Given the description of an element on the screen output the (x, y) to click on. 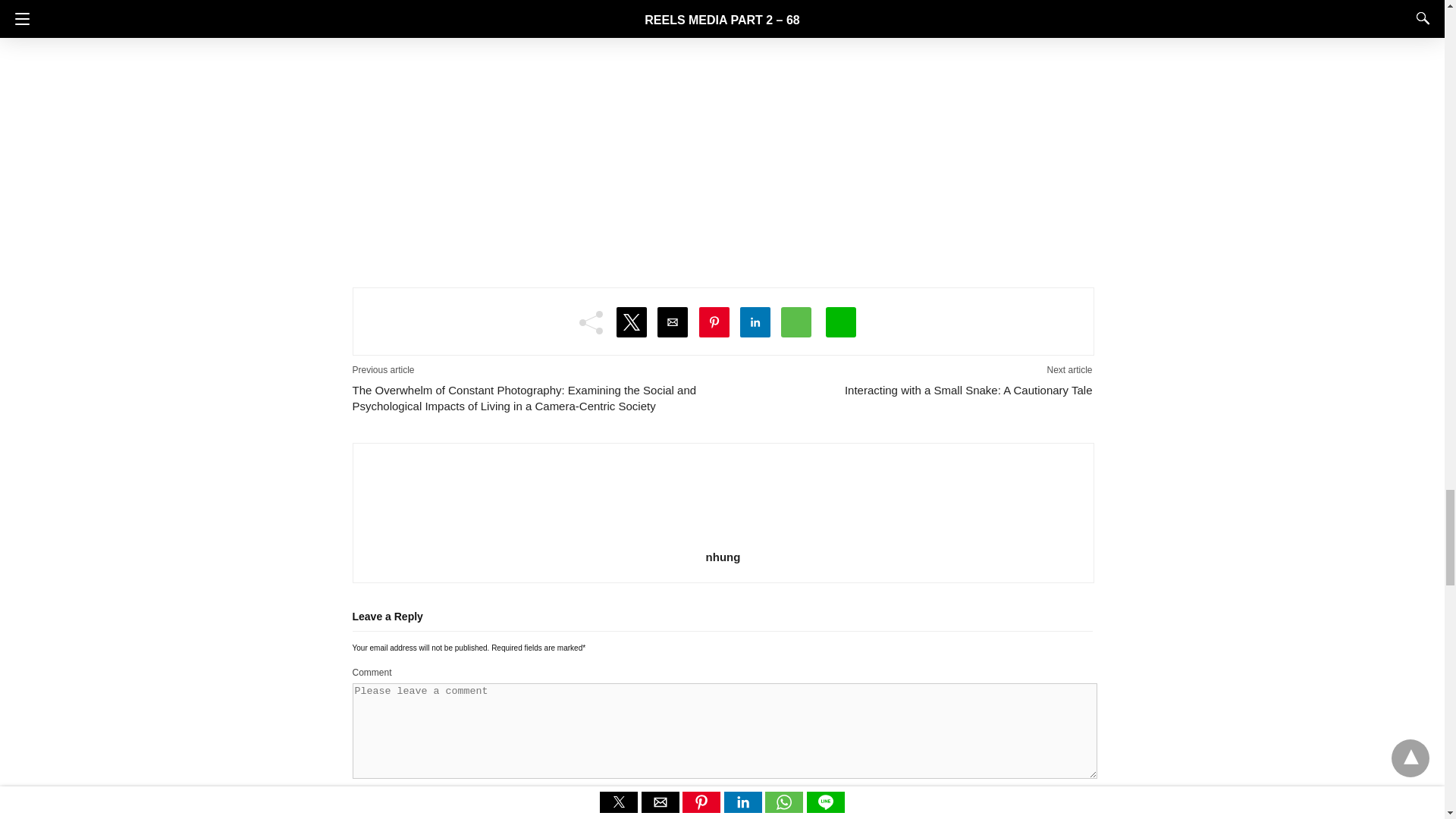
nhung (723, 556)
Interacting with a Small Snake: A Cautionary Tale (907, 390)
